Given the description of an element on the screen output the (x, y) to click on. 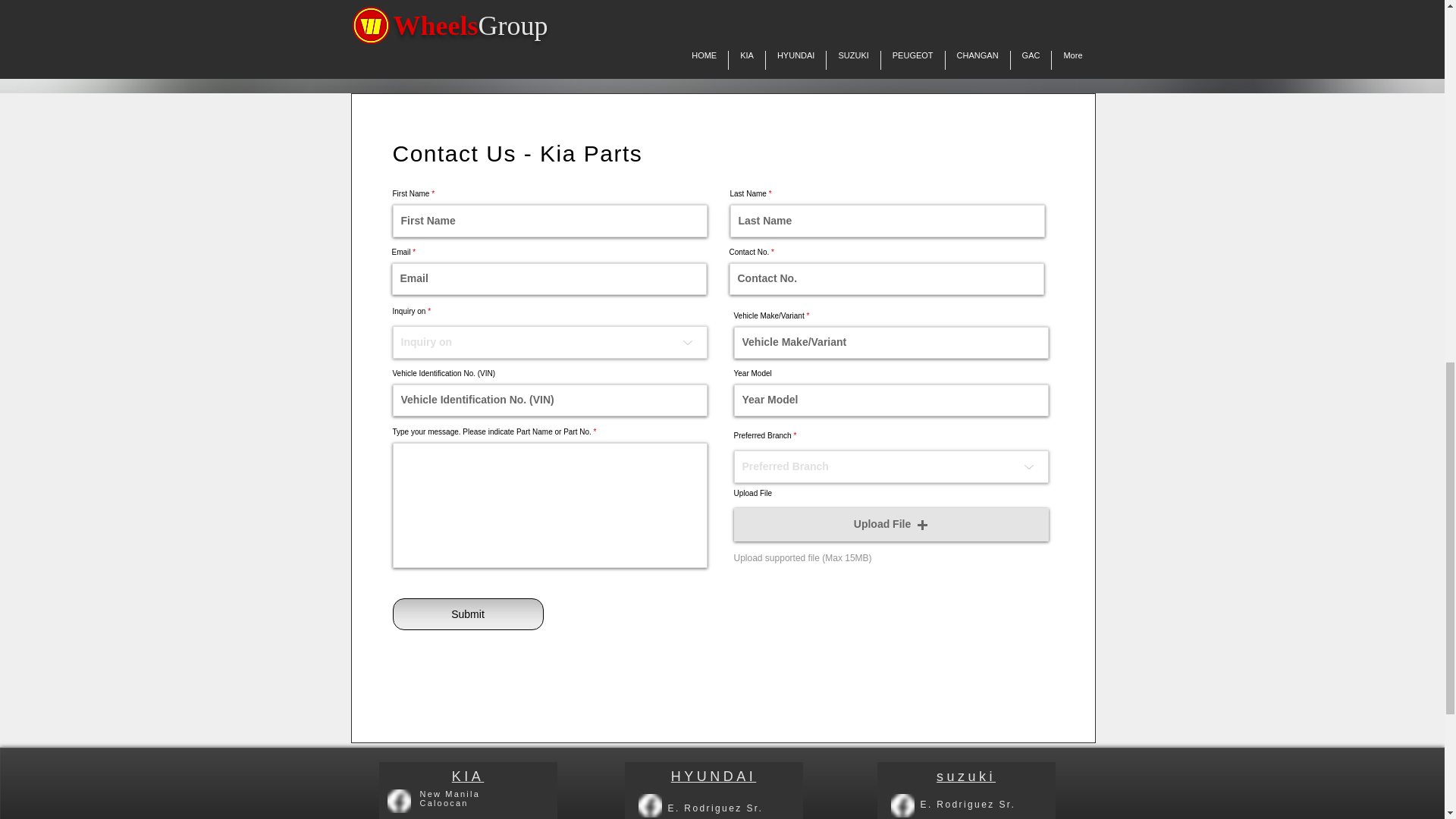
Submit (468, 613)
HYUNDAI (714, 776)
KIA (467, 776)
suzuki (965, 776)
